Given the description of an element on the screen output the (x, y) to click on. 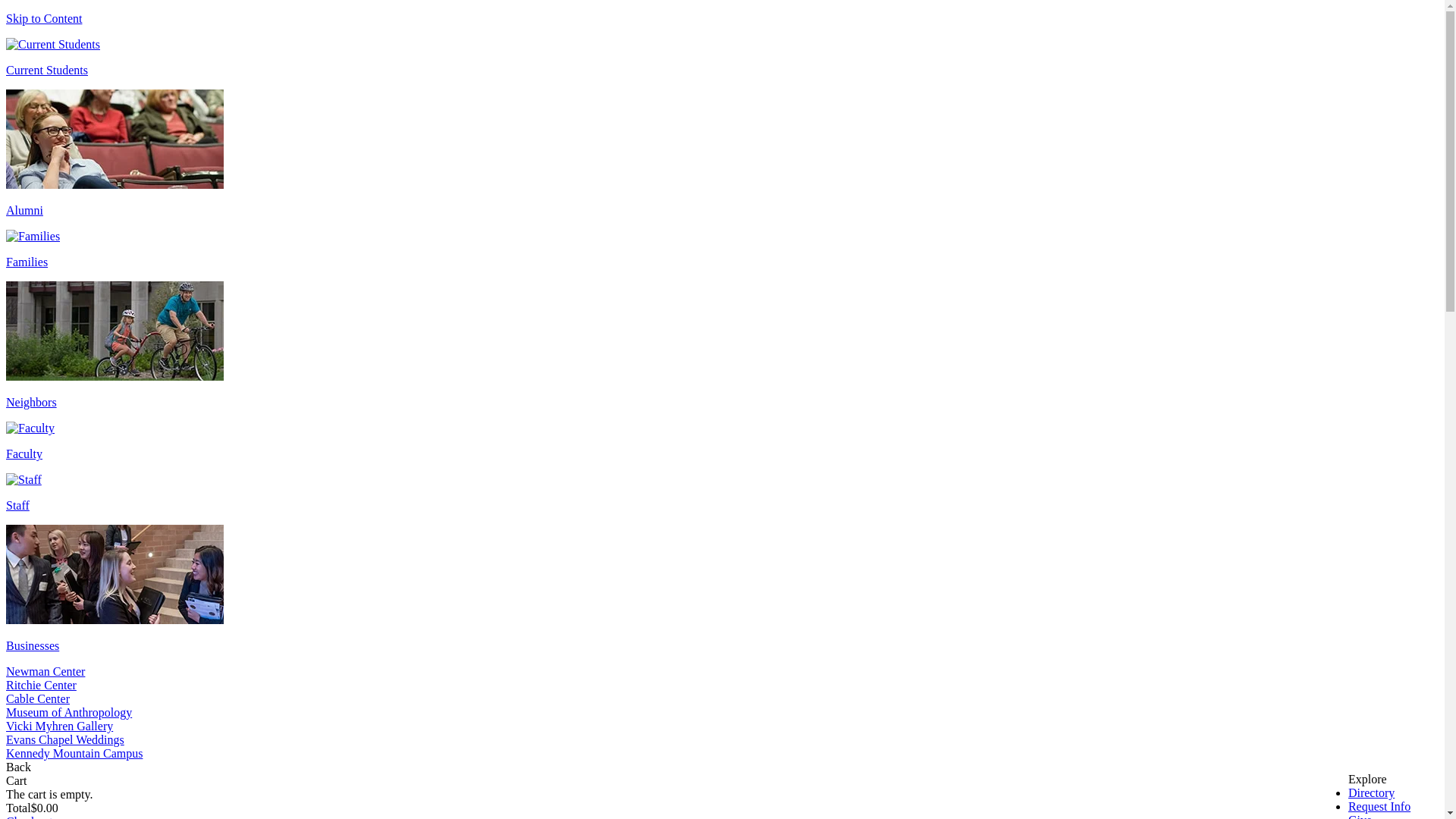
link to Weddings website (64, 739)
Newman Center Box Office (44, 671)
Museum of Anthropology website (68, 712)
Kennedy Mountain Campus (73, 753)
Vicki Myhren Gallery (59, 725)
Museum of Anthropology (68, 712)
Evans Chapel Weddings (64, 739)
DU Directory (1371, 792)
Directory (1371, 792)
Ritchie Center (41, 684)
Skip to Content (43, 18)
Request Information about the University of Denver (1379, 806)
Request Info (1379, 806)
Checkout (28, 816)
Vicki Myhren Gallery website (59, 725)
